Given the description of an element on the screen output the (x, y) to click on. 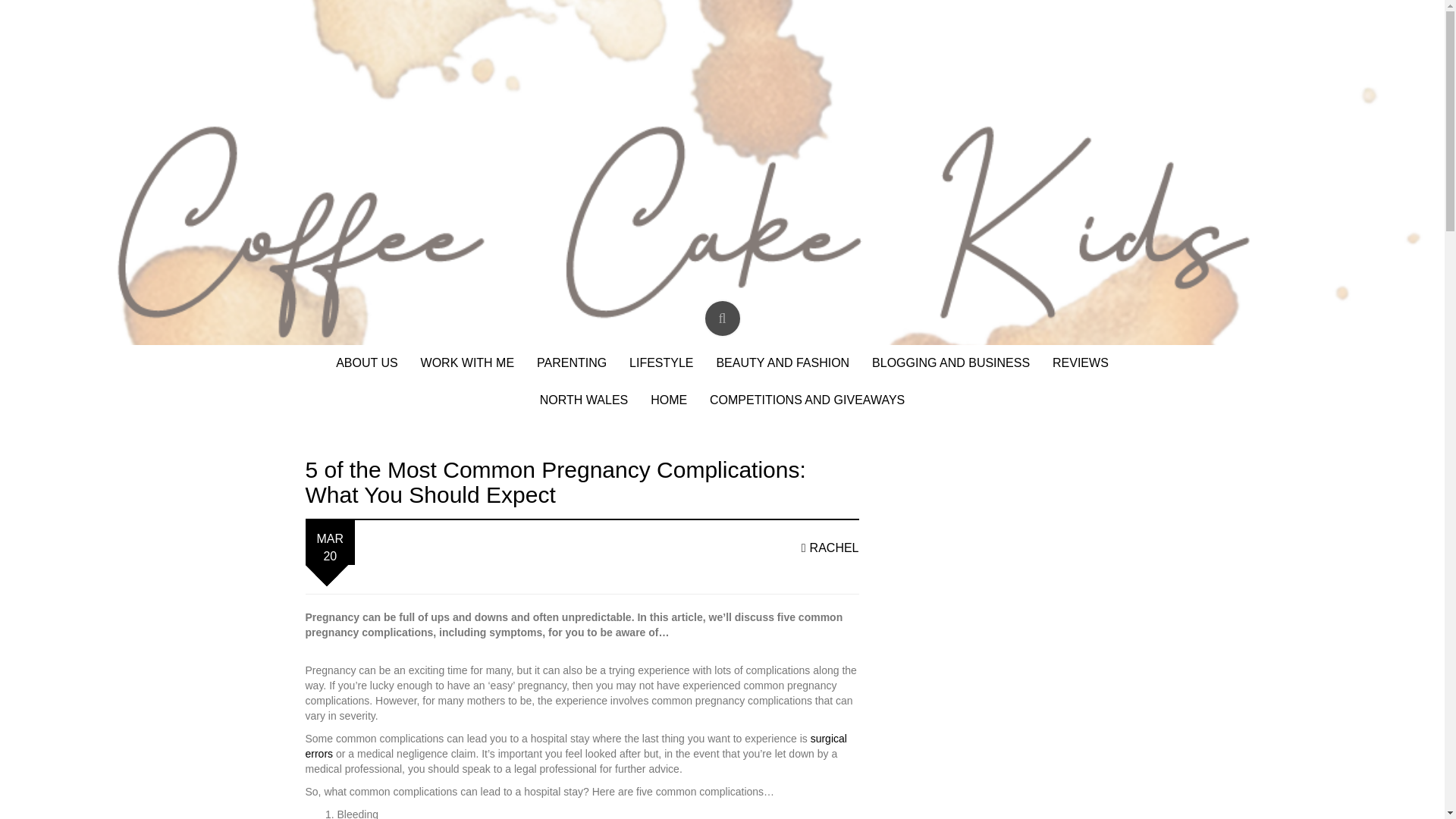
PARENTING (572, 363)
REVIEWS (1080, 363)
RACHEL (830, 547)
ABOUT US (366, 363)
WORK WITH ME (467, 363)
BEAUTY AND FASHION (782, 363)
BLOGGING AND BUSINESS (950, 363)
HOME (668, 400)
surgical errors (574, 746)
NORTH WALES (583, 400)
